Given the description of an element on the screen output the (x, y) to click on. 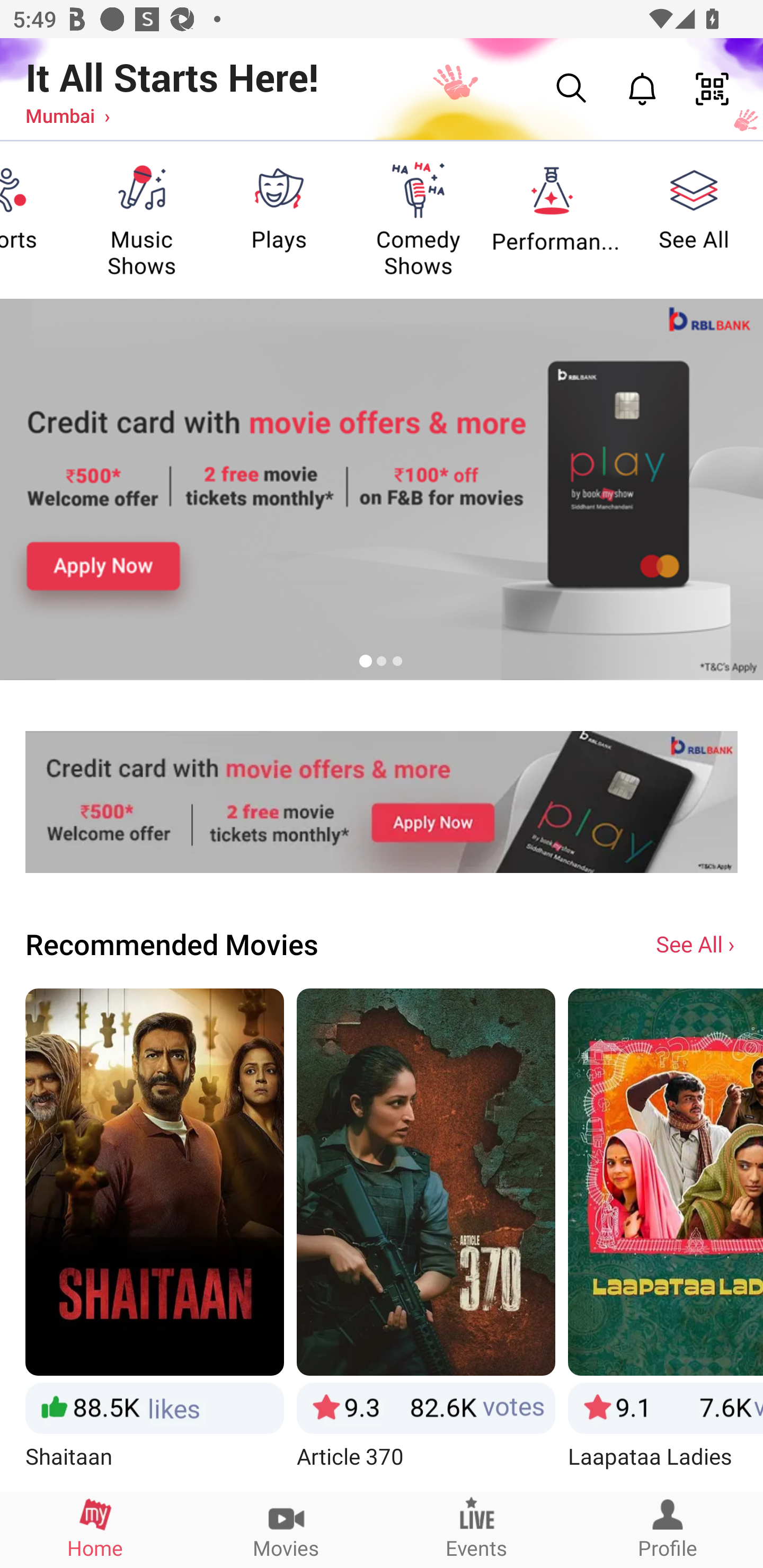
Mumbai  › (67, 114)
See All › (696, 943)
Shaitaan (154, 1239)
Article 370 (425, 1239)
Laapataa Ladies (665, 1239)
Home (95, 1529)
Movies (285, 1529)
Events (476, 1529)
Profile (667, 1529)
